Given the description of an element on the screen output the (x, y) to click on. 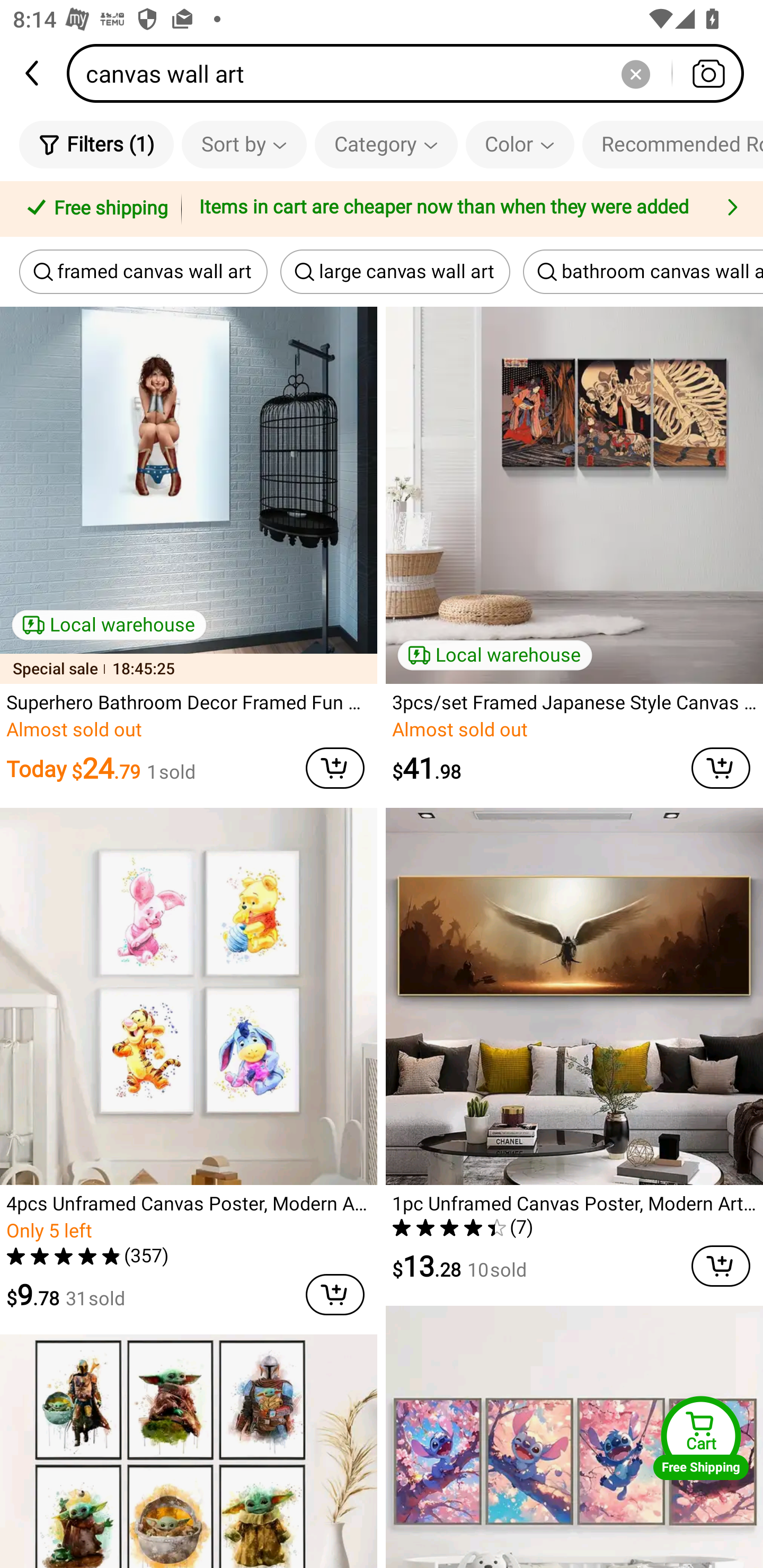
back (33, 72)
canvas wall art (411, 73)
Delete search history (635, 73)
Search by photo (708, 73)
Filters (1) (96, 143)
Sort by (243, 143)
Category (385, 143)
Color (519, 143)
Recommended Room (672, 143)
 Free shipping (93, 208)
framed canvas wall art (143, 271)
large canvas wall art (395, 271)
bathroom canvas wall art (642, 271)
Cart Free Shipping Cart (701, 1437)
